Given the description of an element on the screen output the (x, y) to click on. 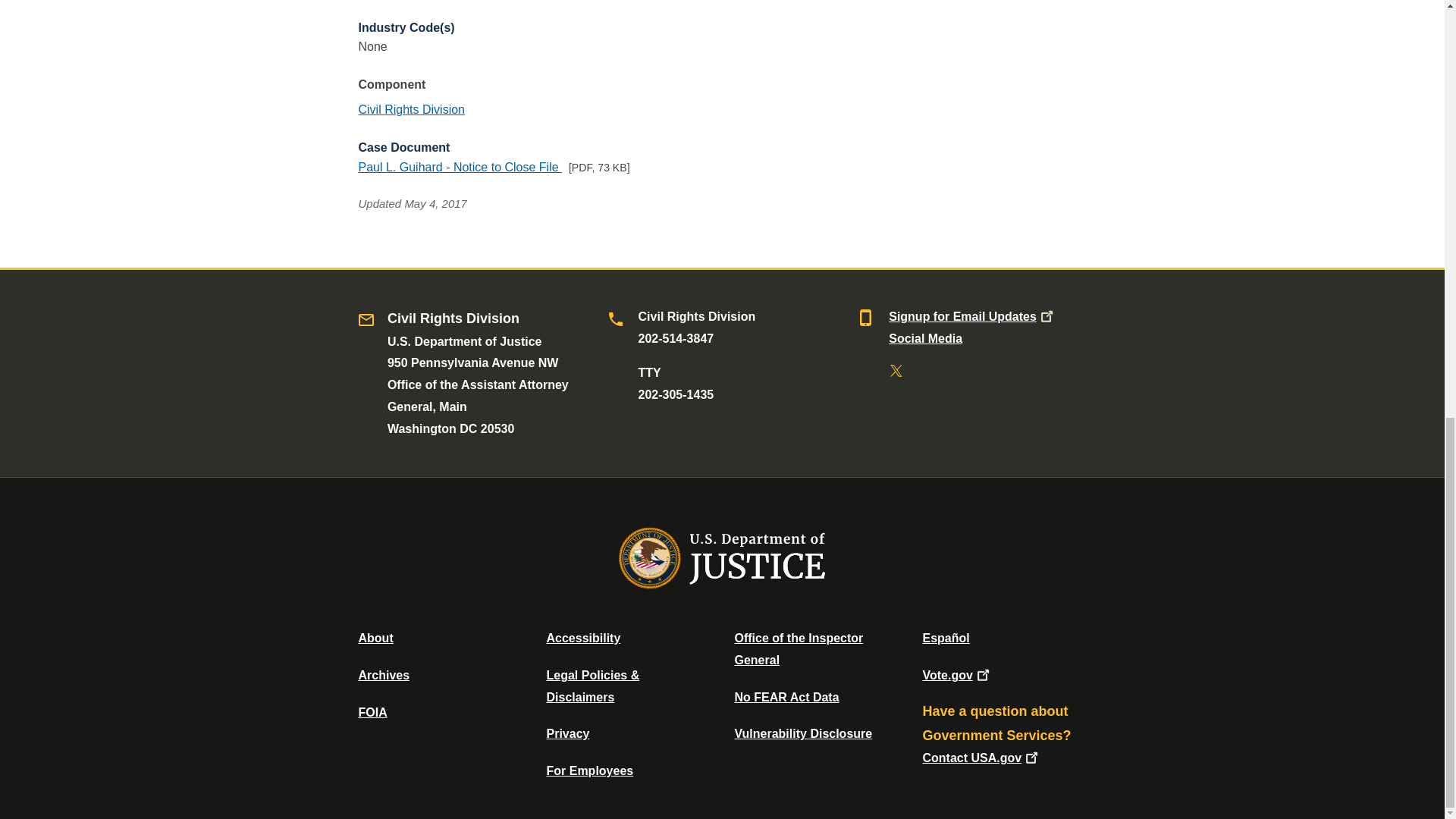
Data Posted Pursuant To The No Fear Act (785, 697)
Office of Information Policy (372, 712)
Legal Policies and Disclaimers (592, 686)
Paul L. Guihard - Notice to Close File (460, 166)
Accessibility Statement (583, 637)
About DOJ (375, 637)
For Employees (589, 770)
Department of Justice Archive (383, 675)
Civil Rights Division (411, 109)
